Given the description of an element on the screen output the (x, y) to click on. 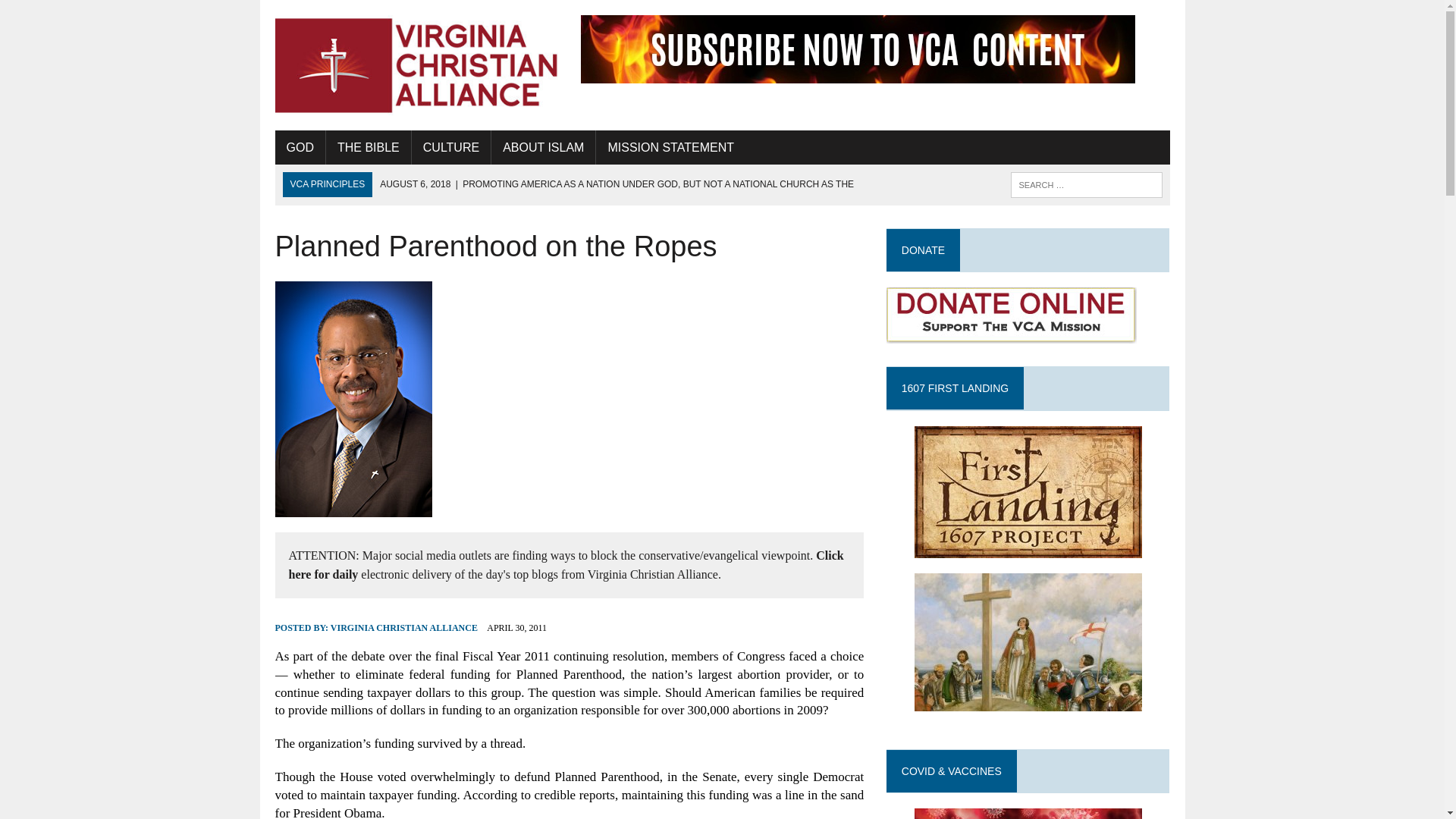
ABOUT ISLAM (543, 147)
CULTURE (451, 147)
Search (75, 14)
GOD (299, 147)
VIRGINIA CHRISTIAN ALLIANCE (403, 627)
Virginia Christian Alliance (416, 65)
MISSION STATEMENT (670, 147)
THE BIBLE (368, 147)
